Given the description of an element on the screen output the (x, y) to click on. 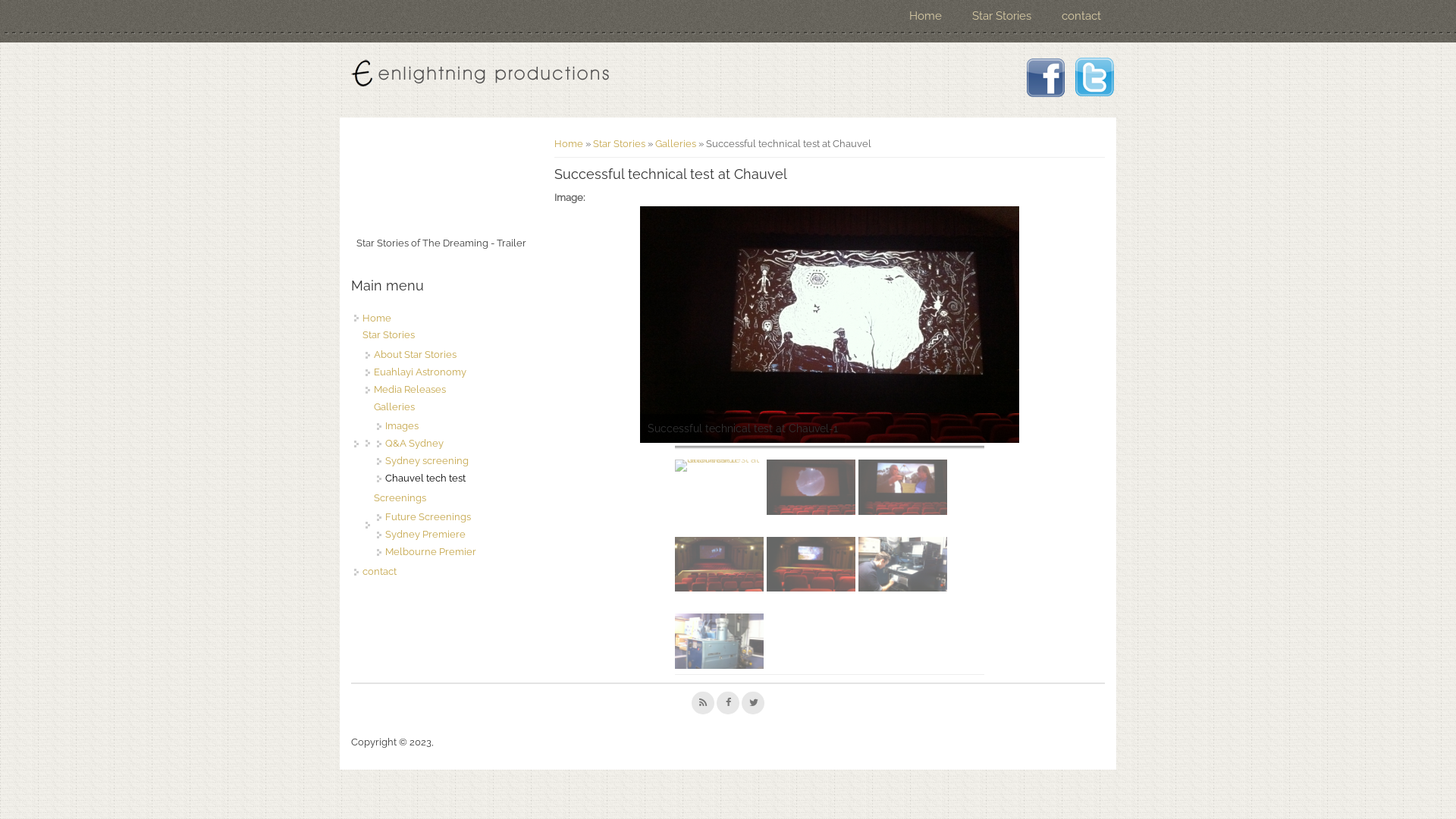
Successful technical test at Chauvel-4 Element type: hover (718, 564)
Chauvel tech test Element type: text (425, 477)
Sydney Premiere Element type: text (425, 533)
Star Stories Element type: text (619, 143)
Euahlayi Astronomy Element type: text (419, 371)
Successful technical test at Chauvel-1 Element type: hover (718, 465)
Melbourne Premier Element type: text (430, 551)
Galleries Element type: text (393, 406)
Home Element type: hover (479, 73)
Successful technical test at Chauvel-5 Element type: hover (810, 564)
Images Element type: text (401, 425)
Successful technical test at Chauvel-3 Element type: hover (902, 486)
Star Stories Element type: text (1001, 16)
contact Element type: text (379, 571)
Home Element type: text (925, 16)
Home Element type: text (376, 317)
Galleries Element type: text (675, 143)
Q&A Sydney Element type: text (414, 442)
Successful technical test at Chauvel-1 Element type: hover (829, 324)
Screenings Element type: text (399, 497)
Star Stories Element type: text (388, 334)
Successful technical test at Chauvel-2 Element type: hover (810, 486)
Sydney screening Element type: text (426, 460)
Future Screenings Element type: text (427, 516)
contact Element type: text (1081, 16)
About Star Stories Element type: text (414, 354)
Home Element type: text (568, 143)
Media Releases Element type: text (409, 389)
